Given the description of an element on the screen output the (x, y) to click on. 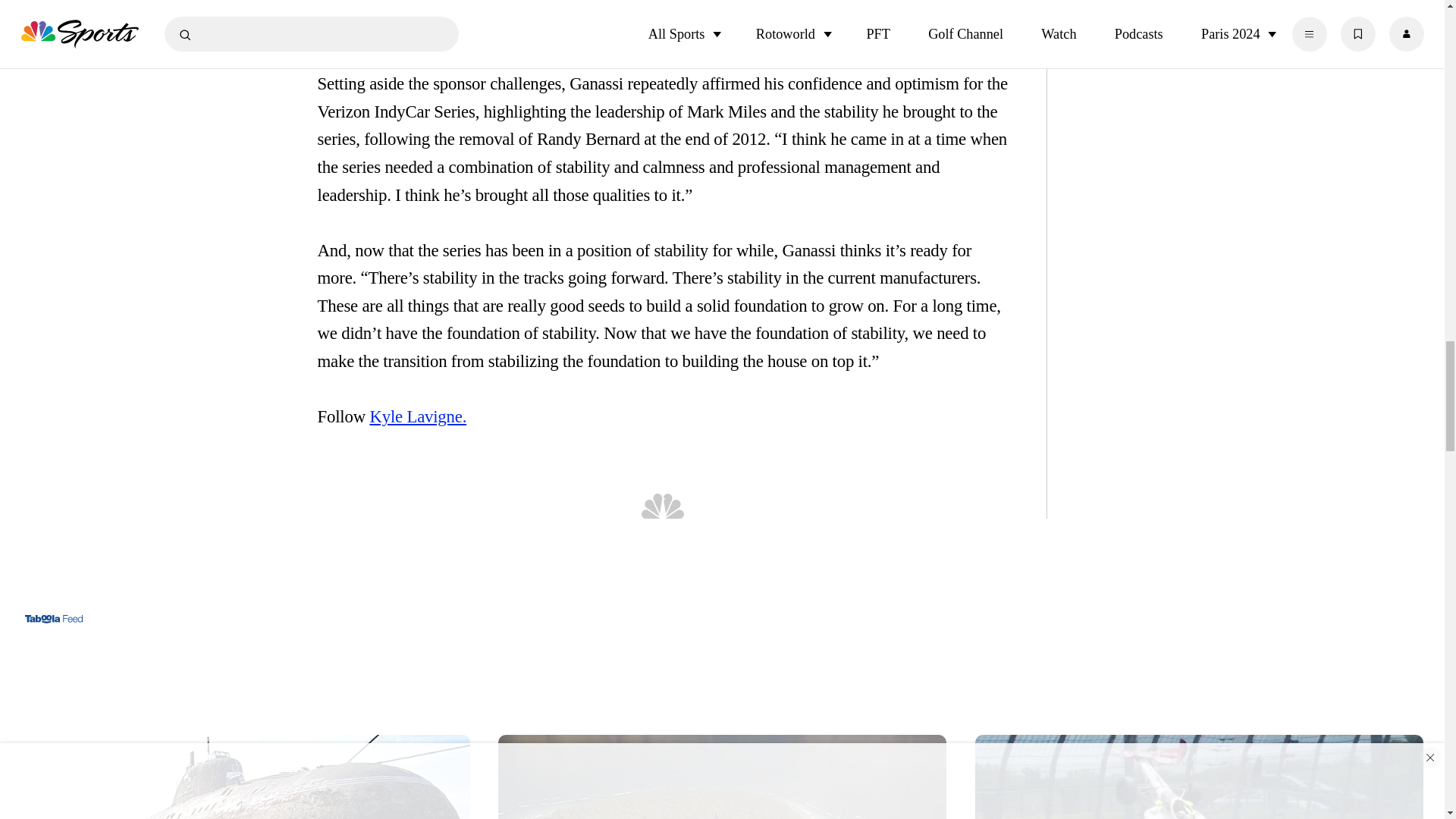
Decades Later Submarine Found, They Looked Inside (245, 772)
